Given the description of an element on the screen output the (x, y) to click on. 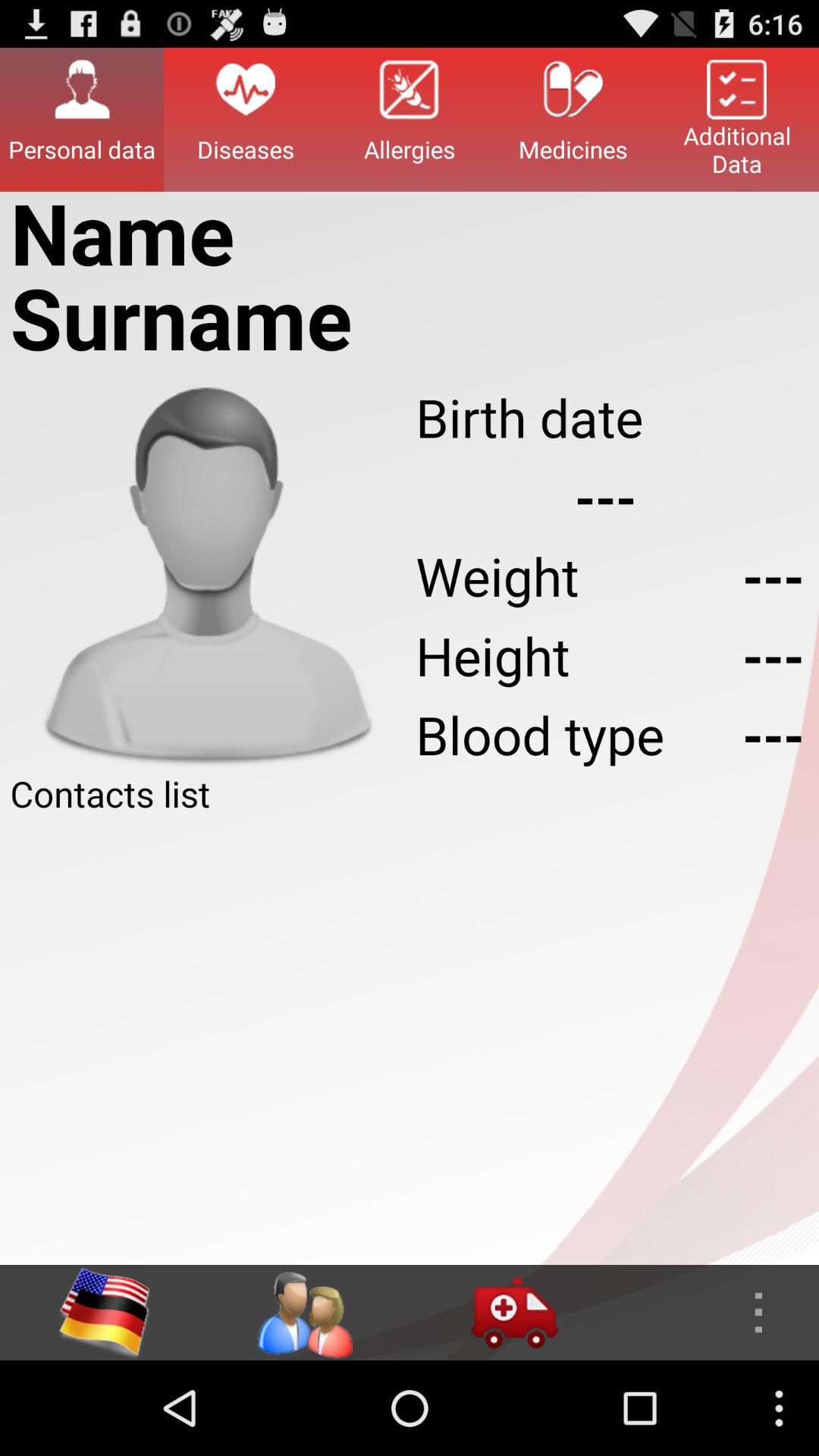
turn off the item to the right of the medicines (737, 119)
